Given the description of an element on the screen output the (x, y) to click on. 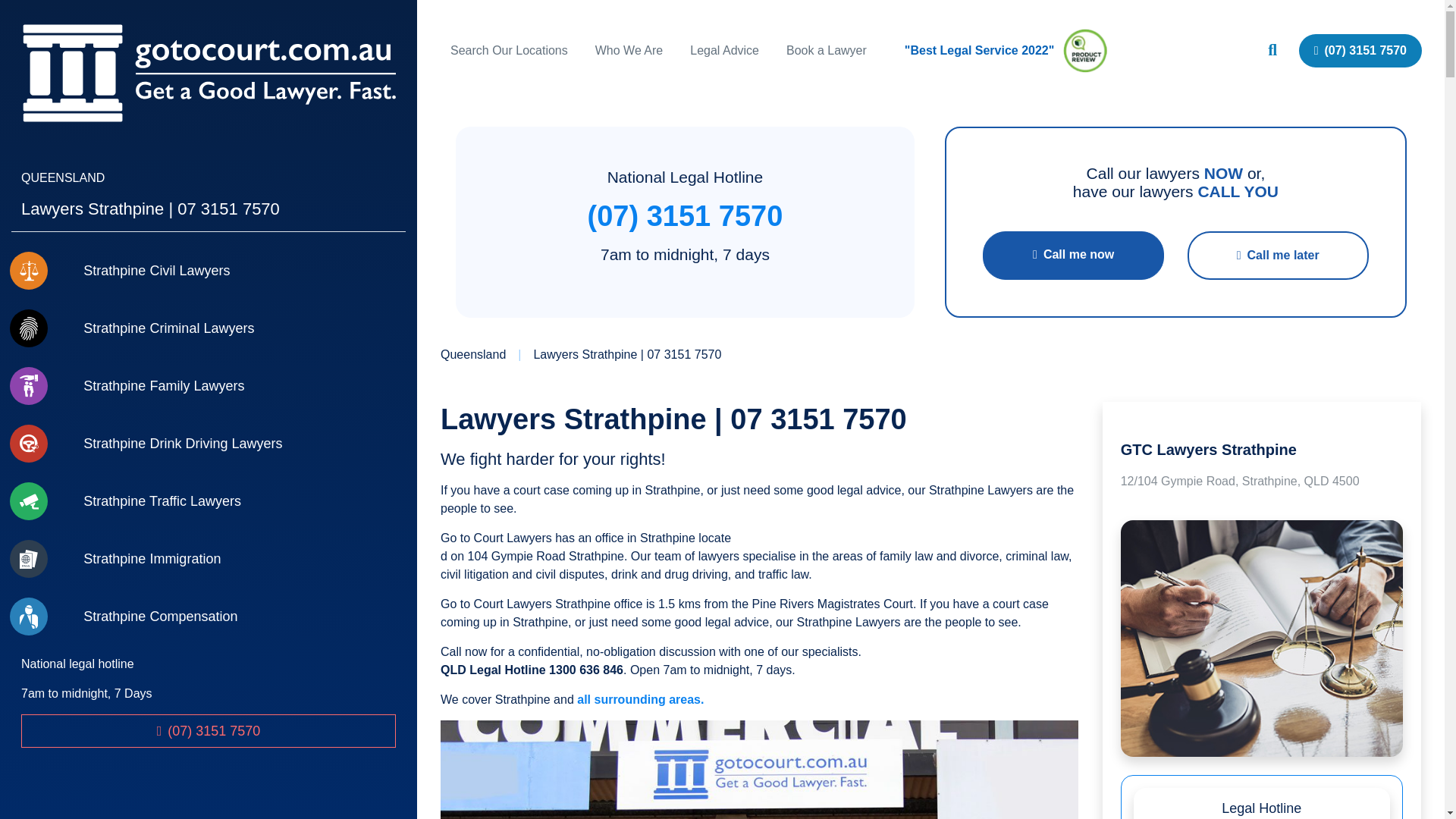
(07) 3151 7570 Element type: text (208, 730)
all surrounding areas. Element type: text (640, 699)
Search Our Locations Element type: text (508, 49)
Lawyers Strathpine | 07 3151 7570 Element type: text (627, 354)
Call me later Element type: text (1277, 255)
Call me now Element type: text (1073, 255)
"Best Legal Service 2022" Element type: text (1014, 50)
(07) 3151 7570 Element type: text (1360, 50)
Who We Are Element type: text (629, 49)
Strathpine Traffic Lawyers Element type: text (208, 501)
(07) 3151 7570 Element type: text (685, 216)
Queensland Element type: text (472, 354)
Strathpine Immigration Element type: text (208, 558)
Strathpine Family Lawyers Element type: text (208, 385)
Legal Advice Element type: text (724, 49)
Strathpine Civil Lawyers Element type: text (208, 270)
Strathpine Drink Driving Lawyers Element type: text (208, 443)
Strathpine Compensation Element type: text (208, 616)
Strathpine Criminal Lawyers Element type: text (208, 328)
Book a Lawyer Element type: text (826, 49)
